Given the description of an element on the screen output the (x, y) to click on. 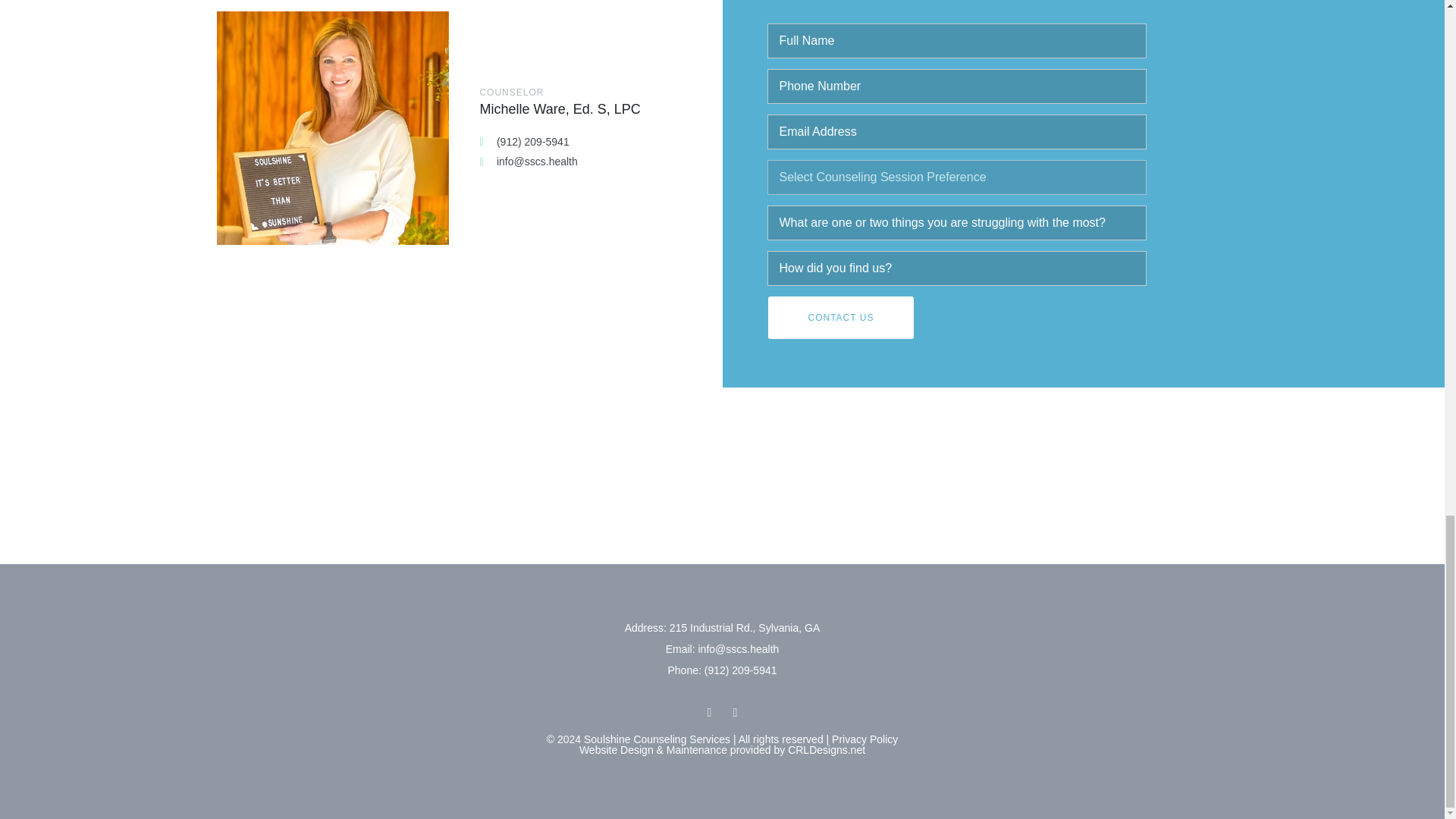
Contact Us (840, 317)
